Given the description of an element on the screen output the (x, y) to click on. 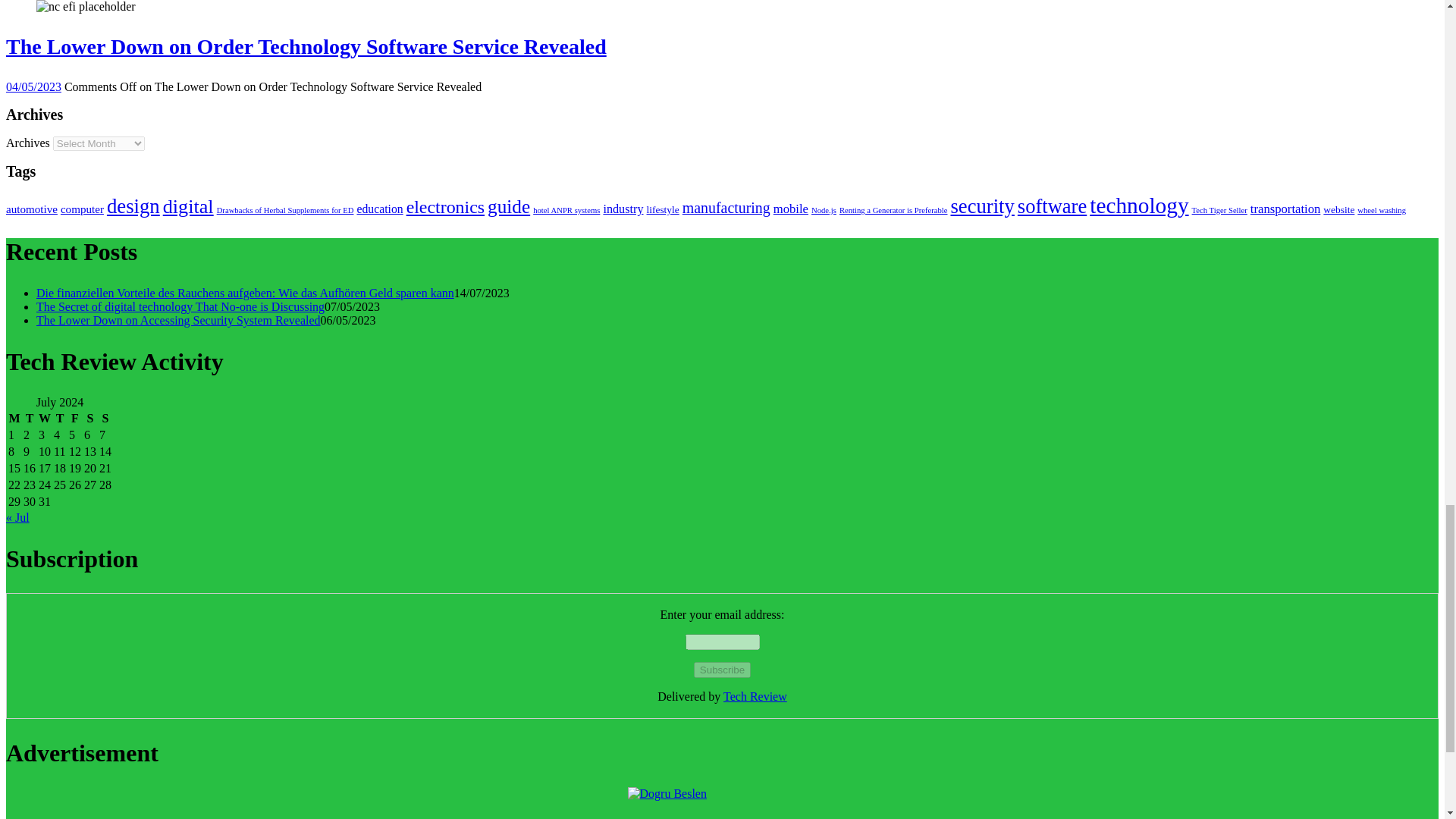
Sunday (105, 418)
Dogru Beslen (721, 803)
Saturday (89, 418)
Wednesday (43, 418)
Thursday (59, 418)
Monday (14, 418)
Friday (74, 418)
Tuesday (29, 418)
The Lower Down on Order Technology Software Service Revealed (85, 6)
Subscribe (722, 669)
